Given the description of an element on the screen output the (x, y) to click on. 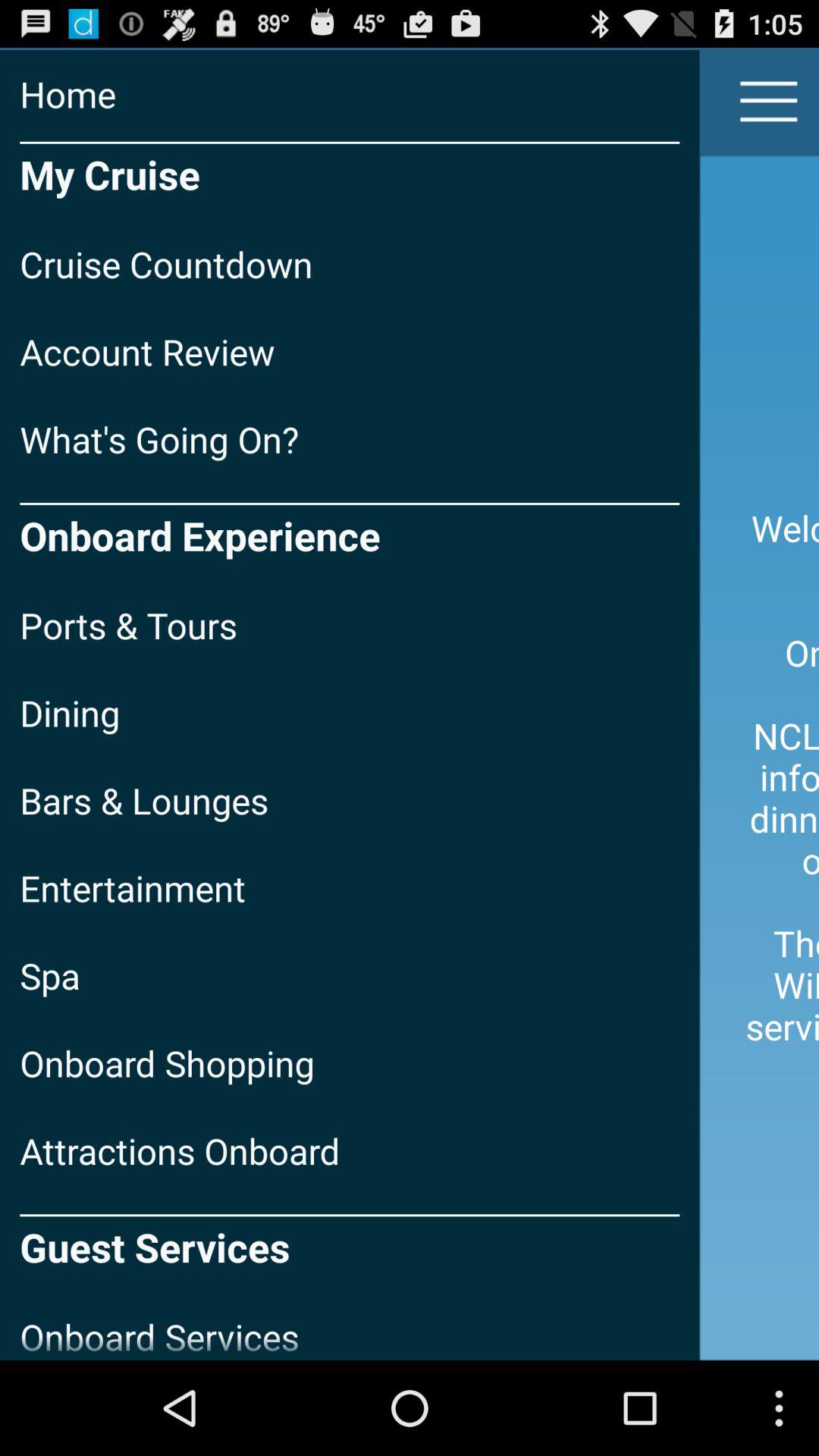
flip to home (349, 93)
